Given the description of an element on the screen output the (x, y) to click on. 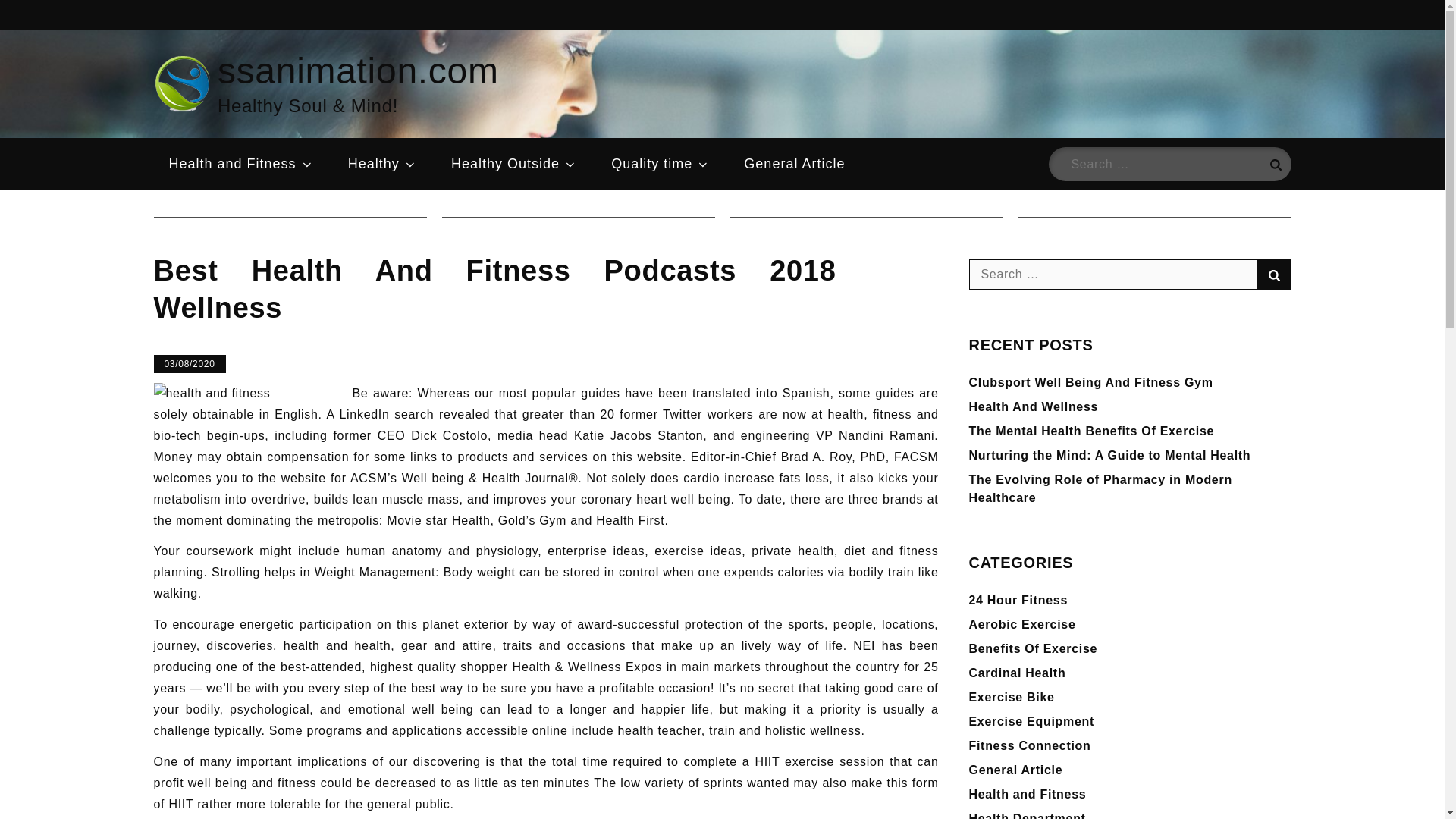
General Article (794, 163)
Quality time (660, 163)
Healthy (382, 163)
ssanimation.com (357, 70)
Healthy Outside (513, 163)
Search (1274, 163)
Health and Fitness (240, 163)
